Given the description of an element on the screen output the (x, y) to click on. 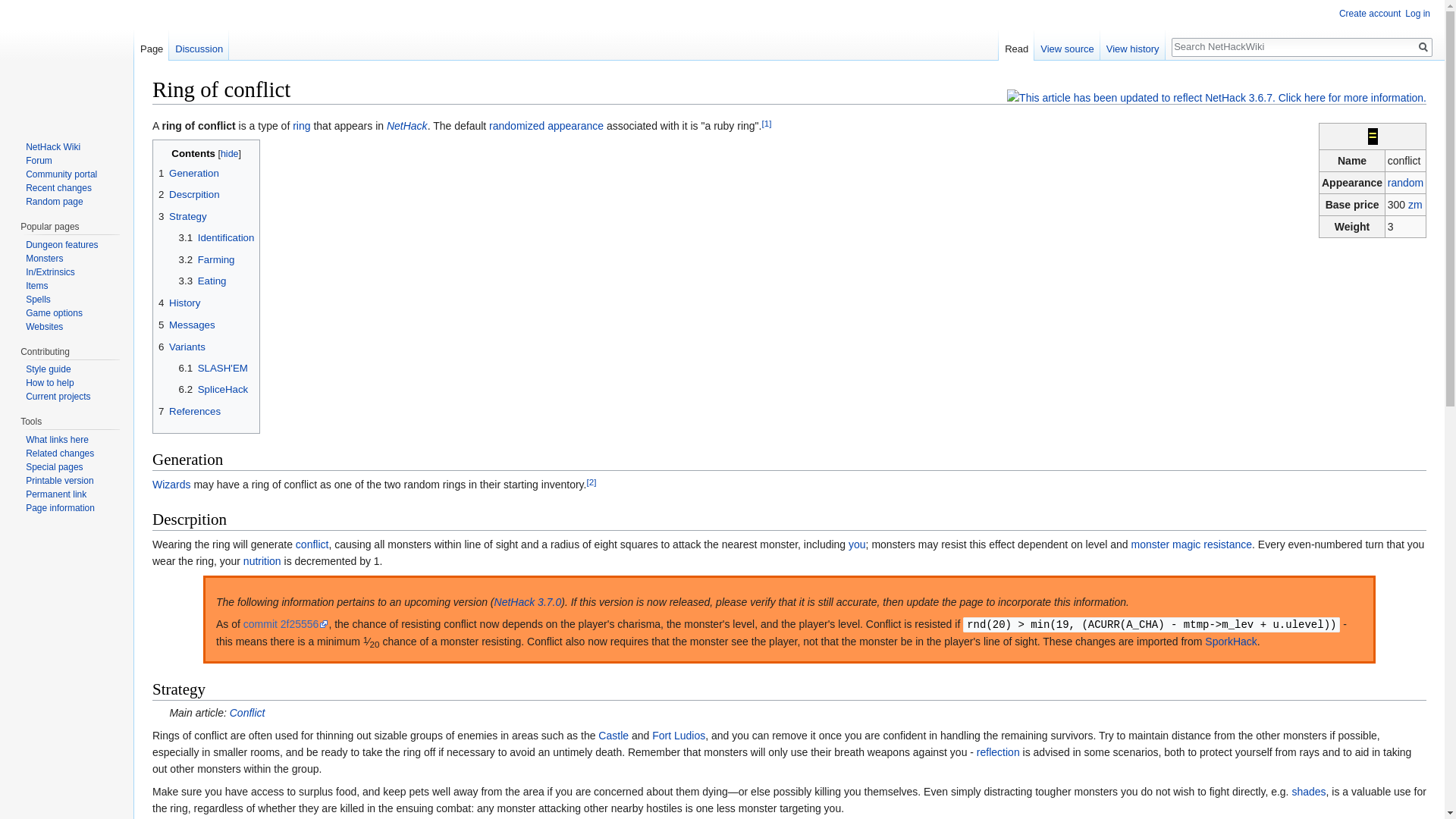
commit 2f25556 (286, 623)
conflict (312, 544)
Shade (1307, 791)
4 History (205, 302)
Conflict (247, 712)
2 Descrpition (205, 194)
5 Messages (205, 324)
Search (1423, 46)
Castle (613, 735)
